Given the description of an element on the screen output the (x, y) to click on. 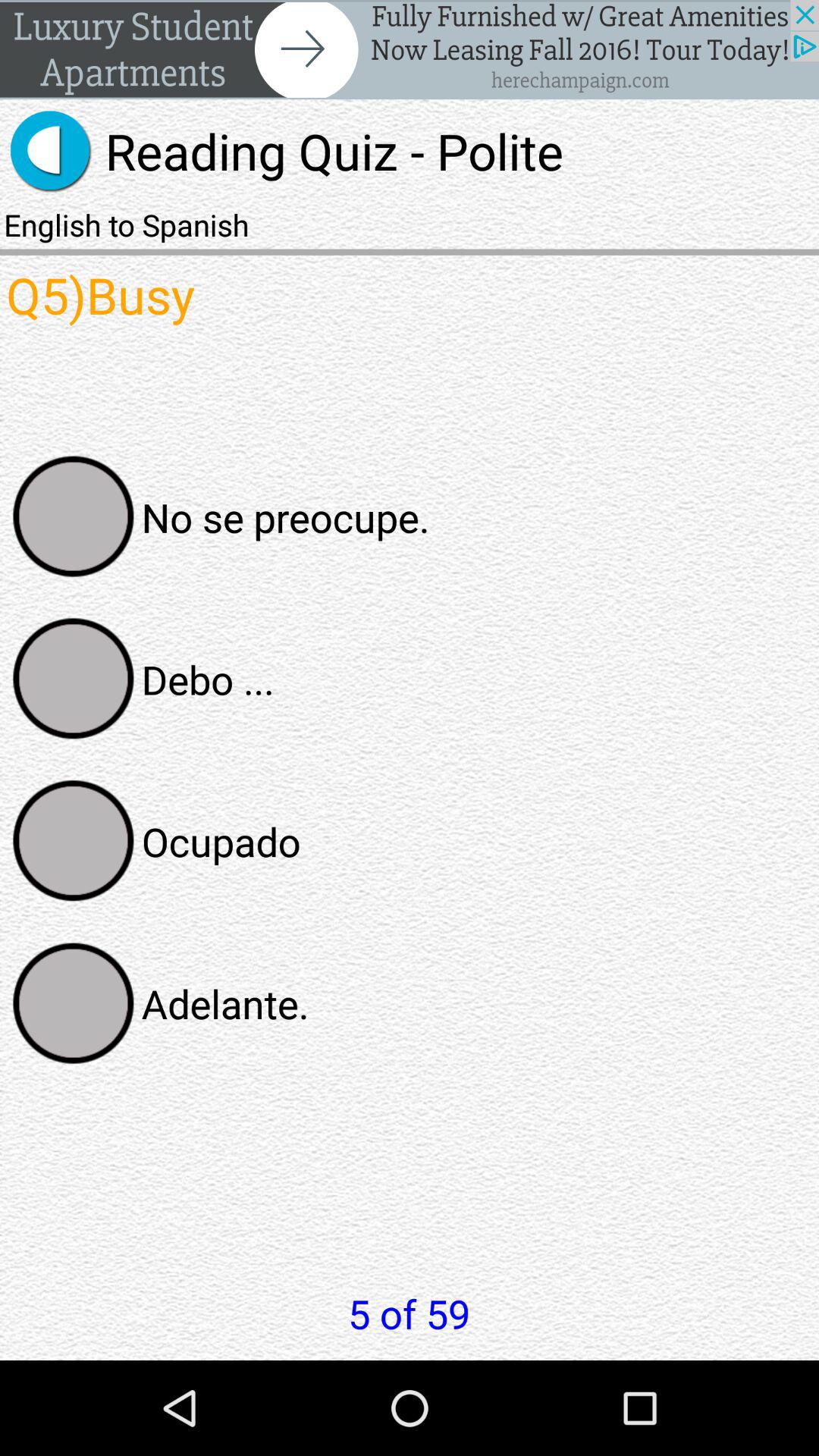
next the (409, 49)
